Given the description of an element on the screen output the (x, y) to click on. 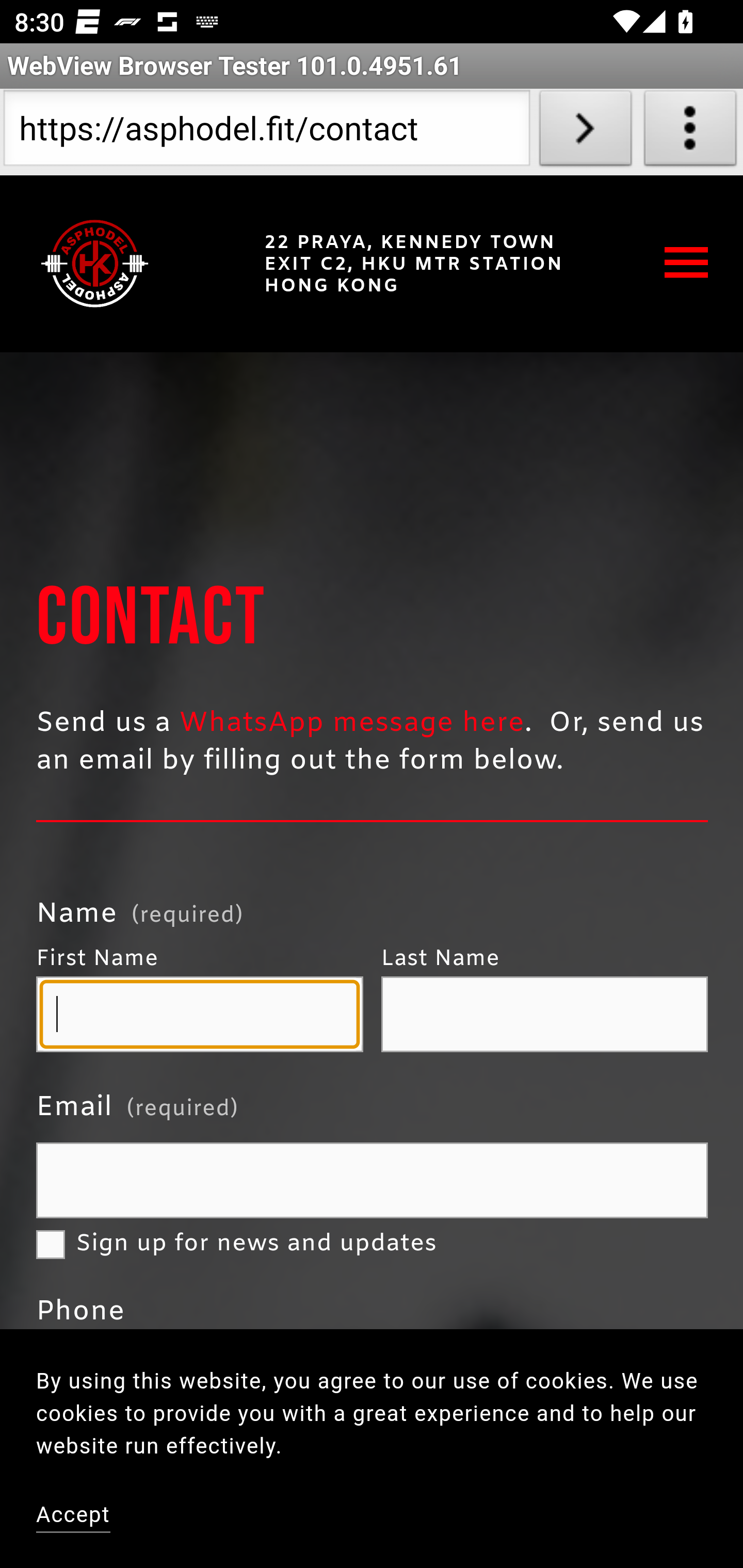
https://asphodel.fit/contact (266, 132)
Load URL (585, 132)
About WebView (690, 132)
Asphodel Fitness (95, 263)
Open navigation menu (686, 262)
WhatsApp message here (351, 723)
Sign up for news and updates (50, 1244)
Accept (74, 1516)
